Given the description of an element on the screen output the (x, y) to click on. 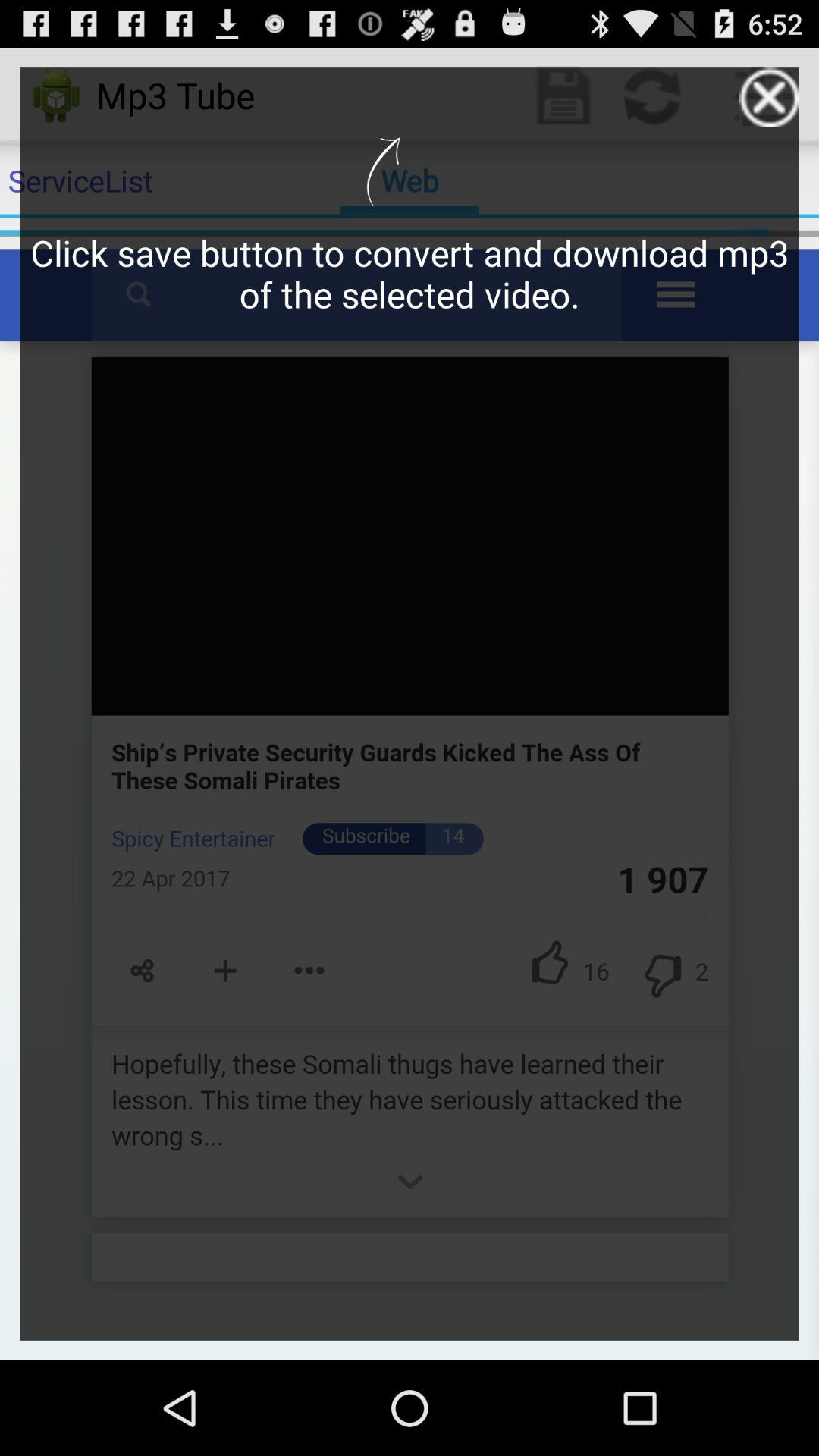
open the item at the top right corner (769, 97)
